Given the description of an element on the screen output the (x, y) to click on. 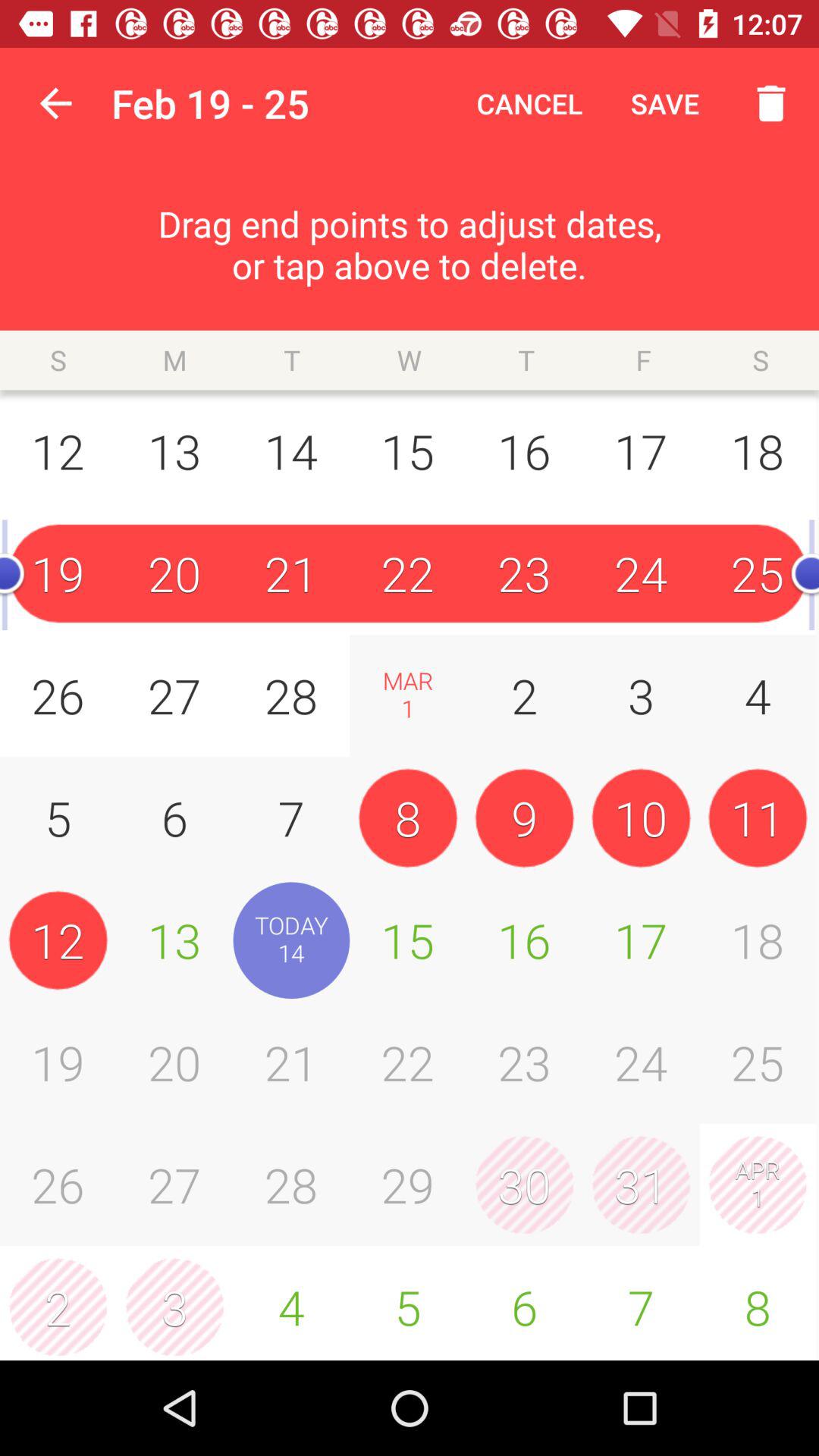
select the icon next to the edit period item (55, 103)
